Given the description of an element on the screen output the (x, y) to click on. 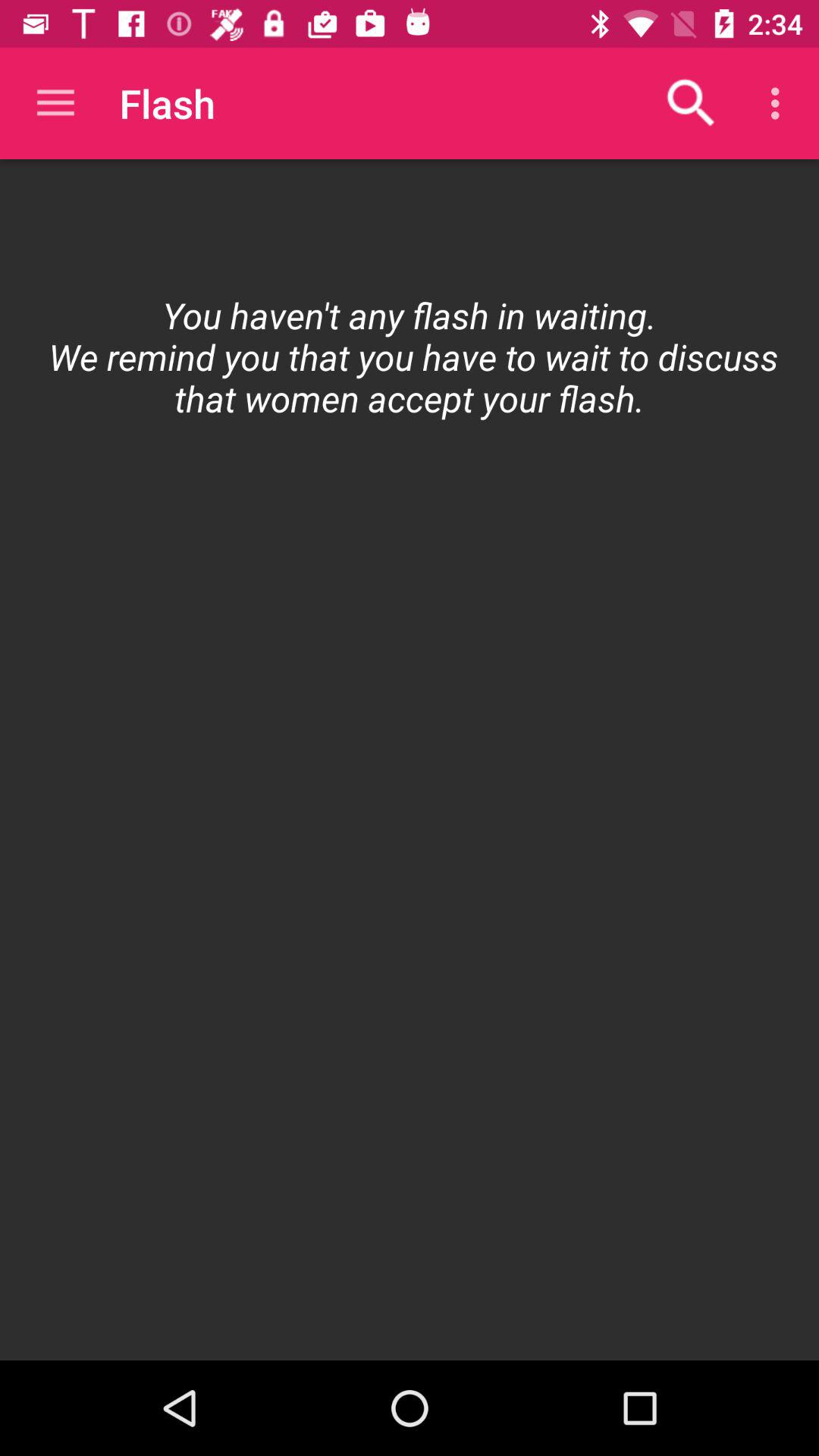
select icon next to the flash icon (55, 103)
